Given the description of an element on the screen output the (x, y) to click on. 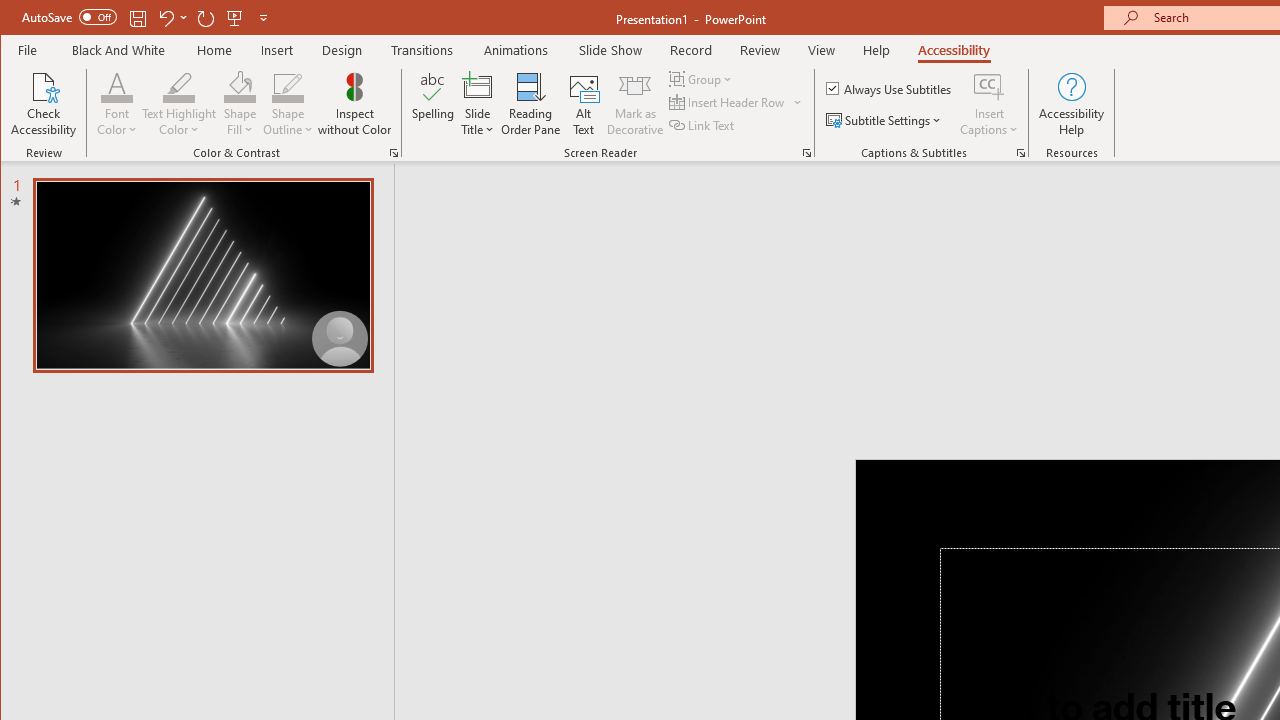
Screen Reader (806, 152)
Shape Outline Blue, Accent 1 (288, 86)
Always Use Subtitles (890, 88)
Black And White (118, 50)
Link Text (703, 124)
Mark as Decorative (635, 104)
